Given the description of an element on the screen output the (x, y) to click on. 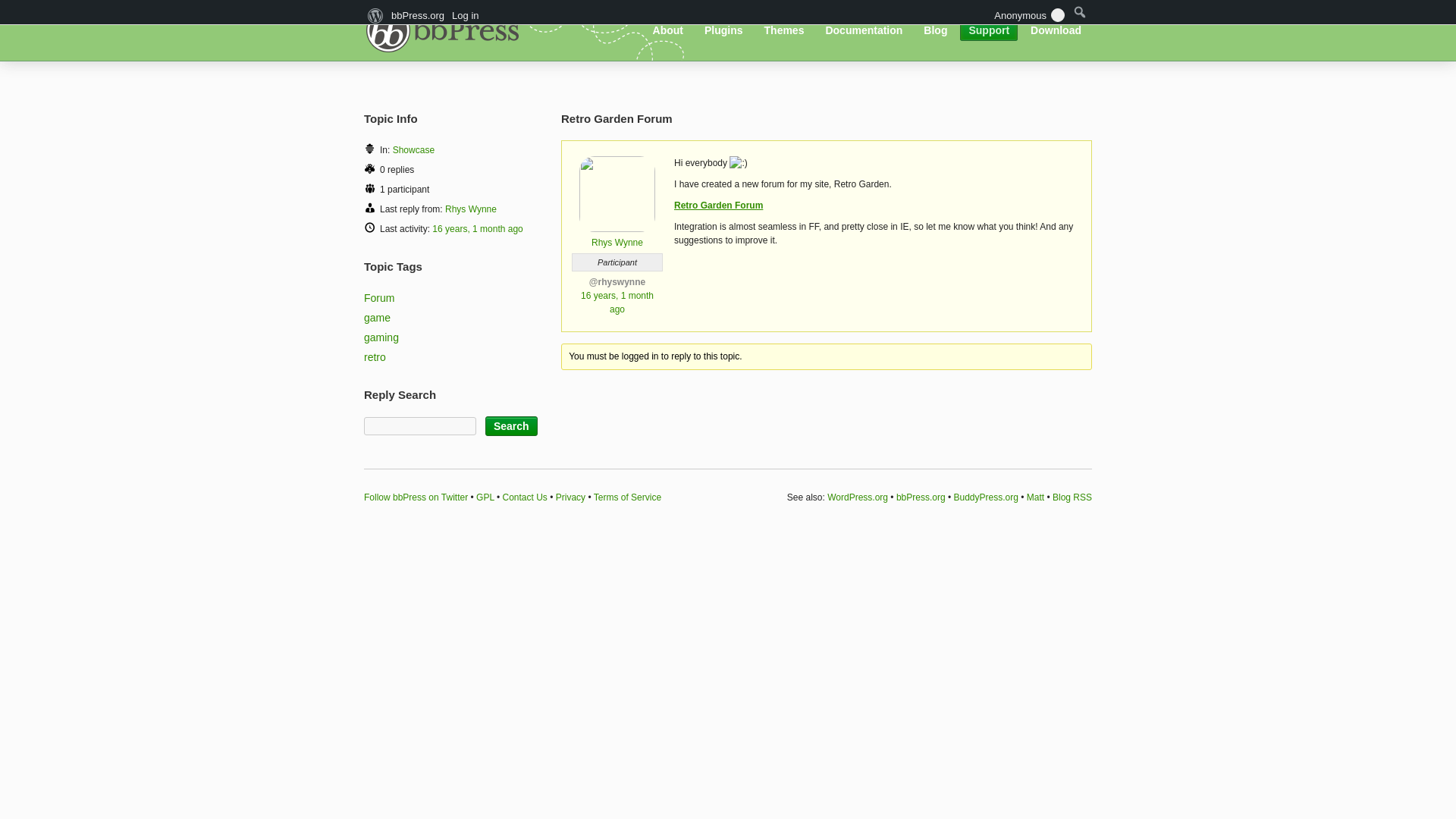
Forum (379, 297)
Download (1055, 29)
Rhys Wynne (616, 236)
Showcase (413, 149)
Blog (935, 29)
16 years, 1 month ago (477, 228)
Themes (783, 29)
About (668, 29)
Support (988, 29)
gaming (381, 337)
retro (374, 357)
Rhys Wynne (470, 208)
bbPress.org (447, 29)
16 years, 1 month ago (616, 302)
Plugins (723, 29)
